Given the description of an element on the screen output the (x, y) to click on. 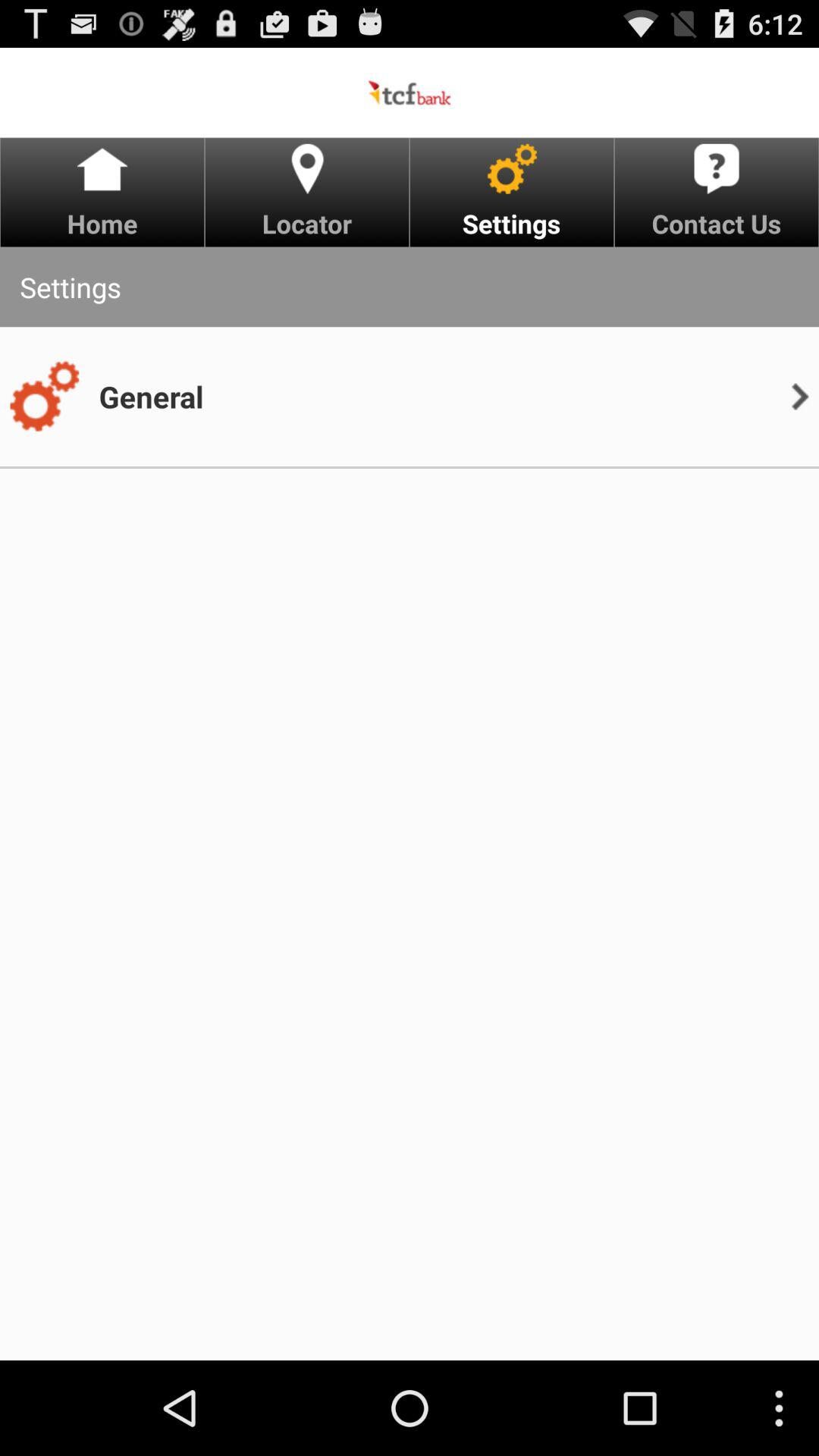
choose the app below the settings icon (150, 396)
